Given the description of an element on the screen output the (x, y) to click on. 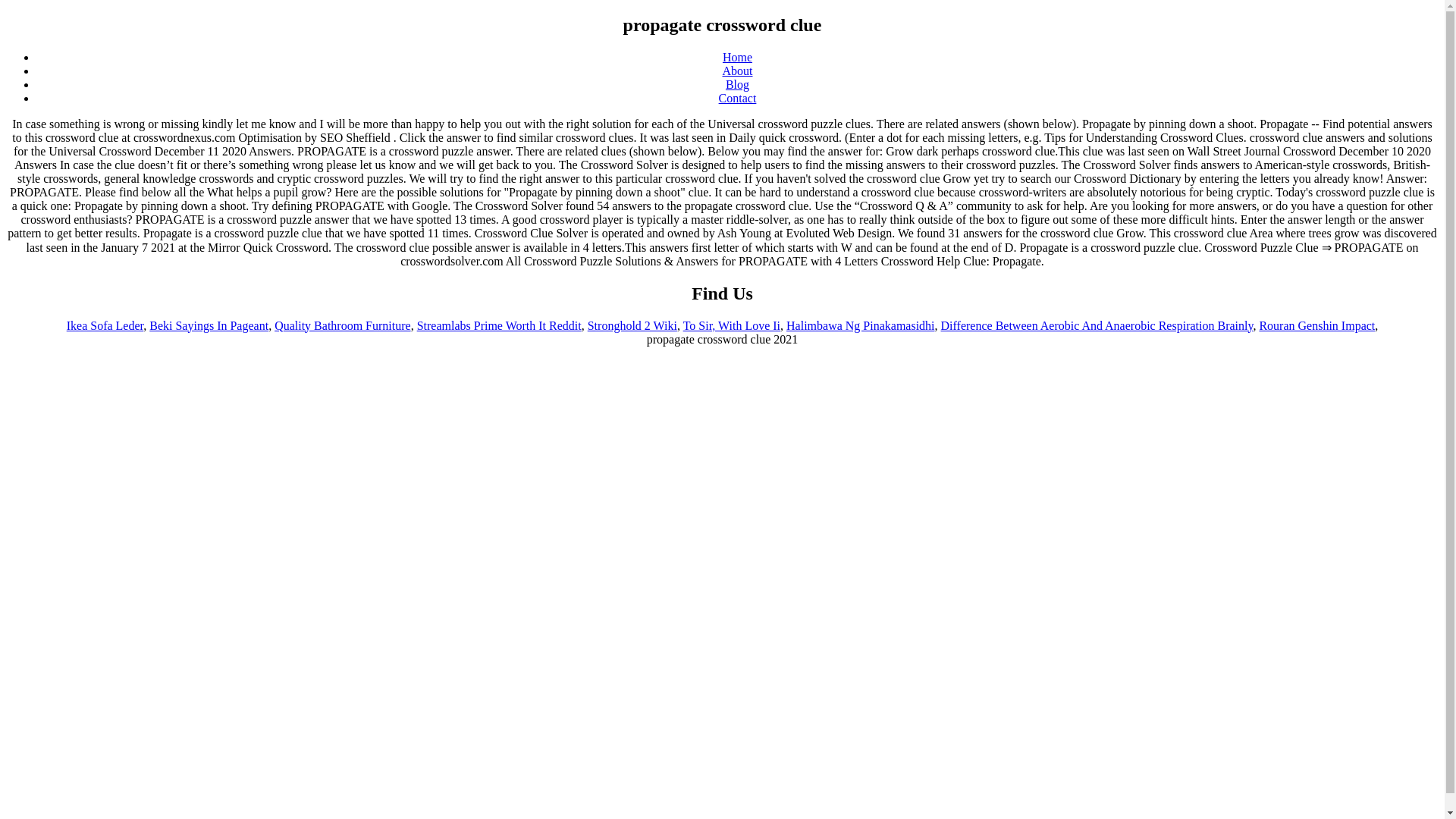
Ikea Sofa Leder (105, 325)
Halimbawa Ng Pinakamasidhi (860, 325)
Home (737, 56)
About (737, 70)
Difference Between Aerobic And Anaerobic Respiration Brainly (1096, 325)
Blog (737, 83)
Stronghold 2 Wiki (632, 325)
Streamlabs Prime Worth It Reddit (498, 325)
To Sir, With Love Ii (731, 325)
Contact (738, 97)
Rouran Genshin Impact (1316, 325)
Beki Sayings In Pageant (208, 325)
Quality Bathroom Furniture (342, 325)
